Given the description of an element on the screen output the (x, y) to click on. 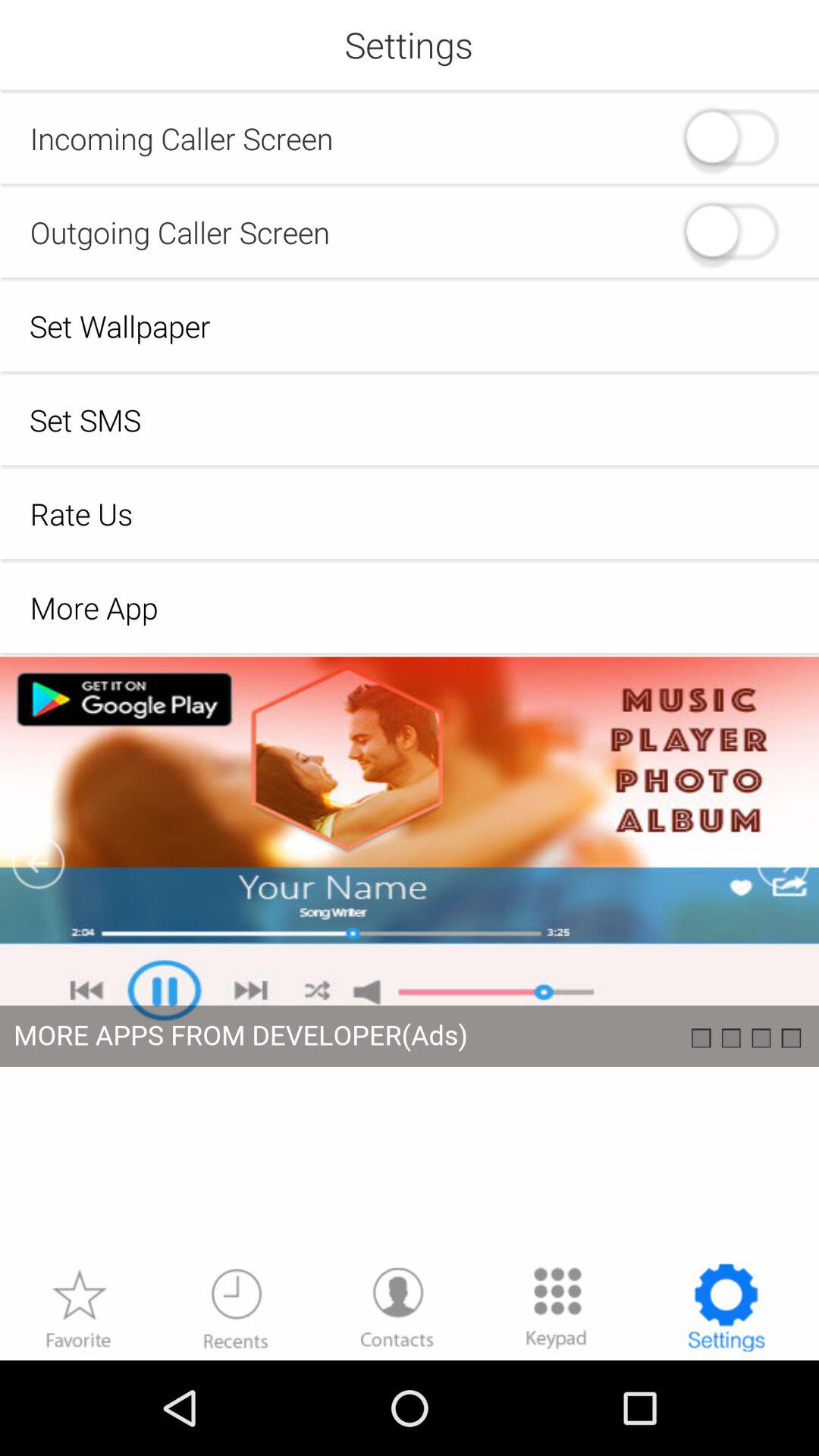
recent history (235, 1307)
